Given the description of an element on the screen output the (x, y) to click on. 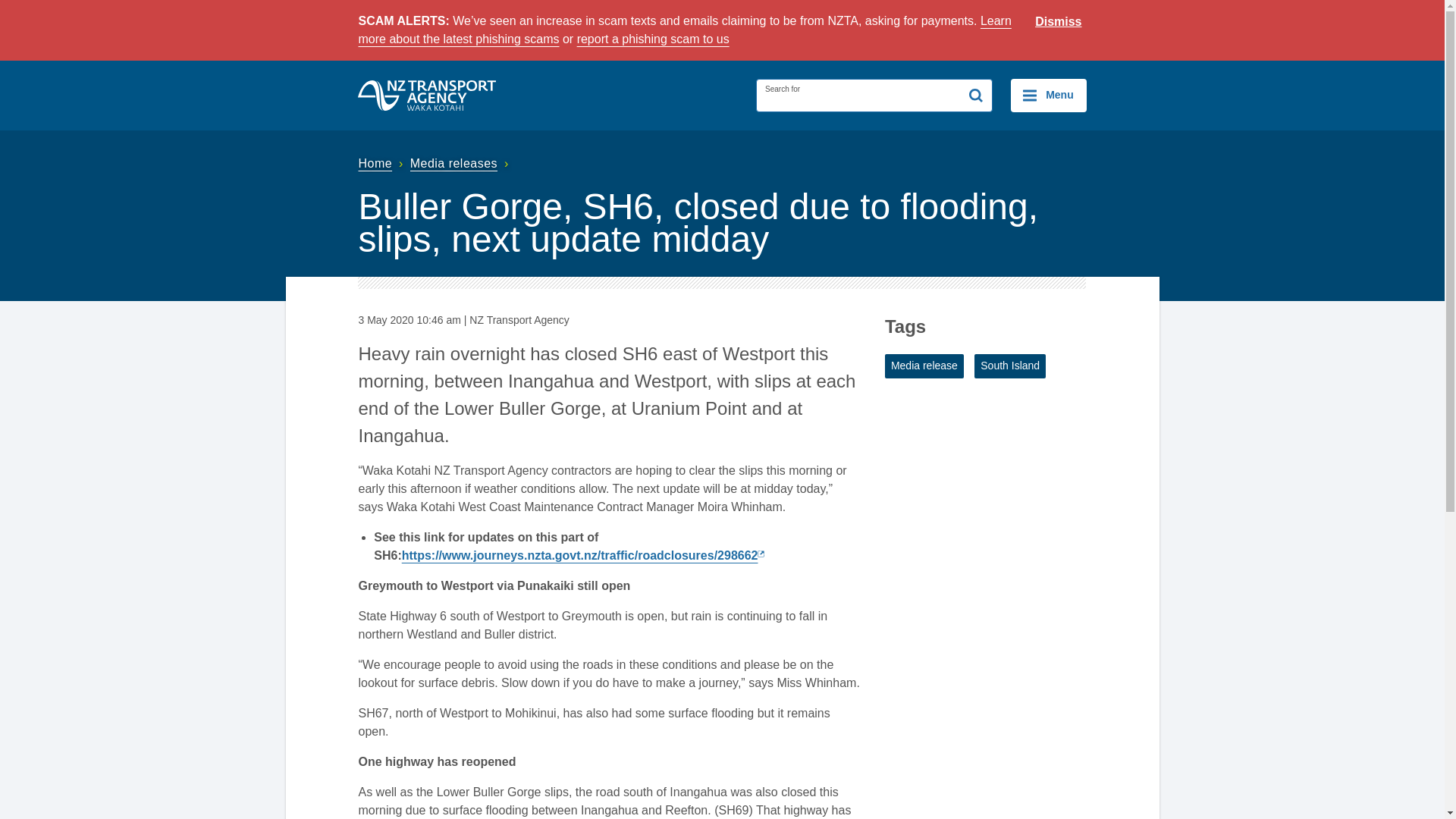
Learn more about the latest phishing scams (684, 29)
Media releases (461, 163)
report a phishing scam to us (652, 38)
Home (382, 163)
Dismiss (1058, 21)
View all posts tagged 'South Island' (1009, 365)
NZ Transport Agency Waka Kotahi (427, 95)
Menu (1048, 95)
View all posts tagged 'Media release' (924, 365)
